Given the description of an element on the screen output the (x, y) to click on. 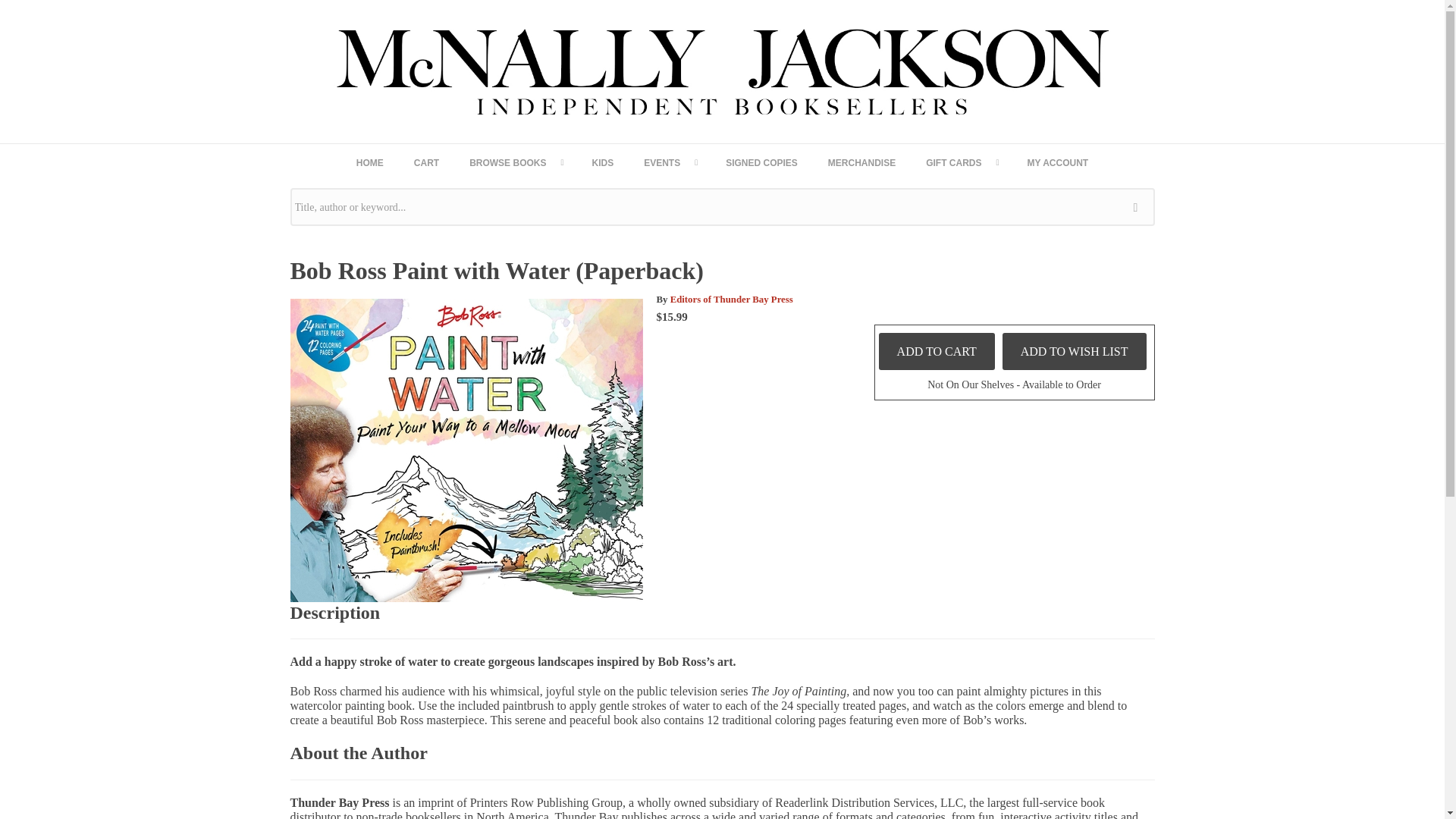
EVENTS (669, 162)
KIDS (602, 162)
CART (426, 162)
MERCHANDISE (861, 162)
Title, author or keyword... (721, 207)
BROWSE BOOKS (515, 162)
MY ACCOUNT (1057, 162)
ADD TO WISH LIST (1075, 351)
SIGNED COPIES (761, 162)
Add to Cart (936, 351)
